Given the description of an element on the screen output the (x, y) to click on. 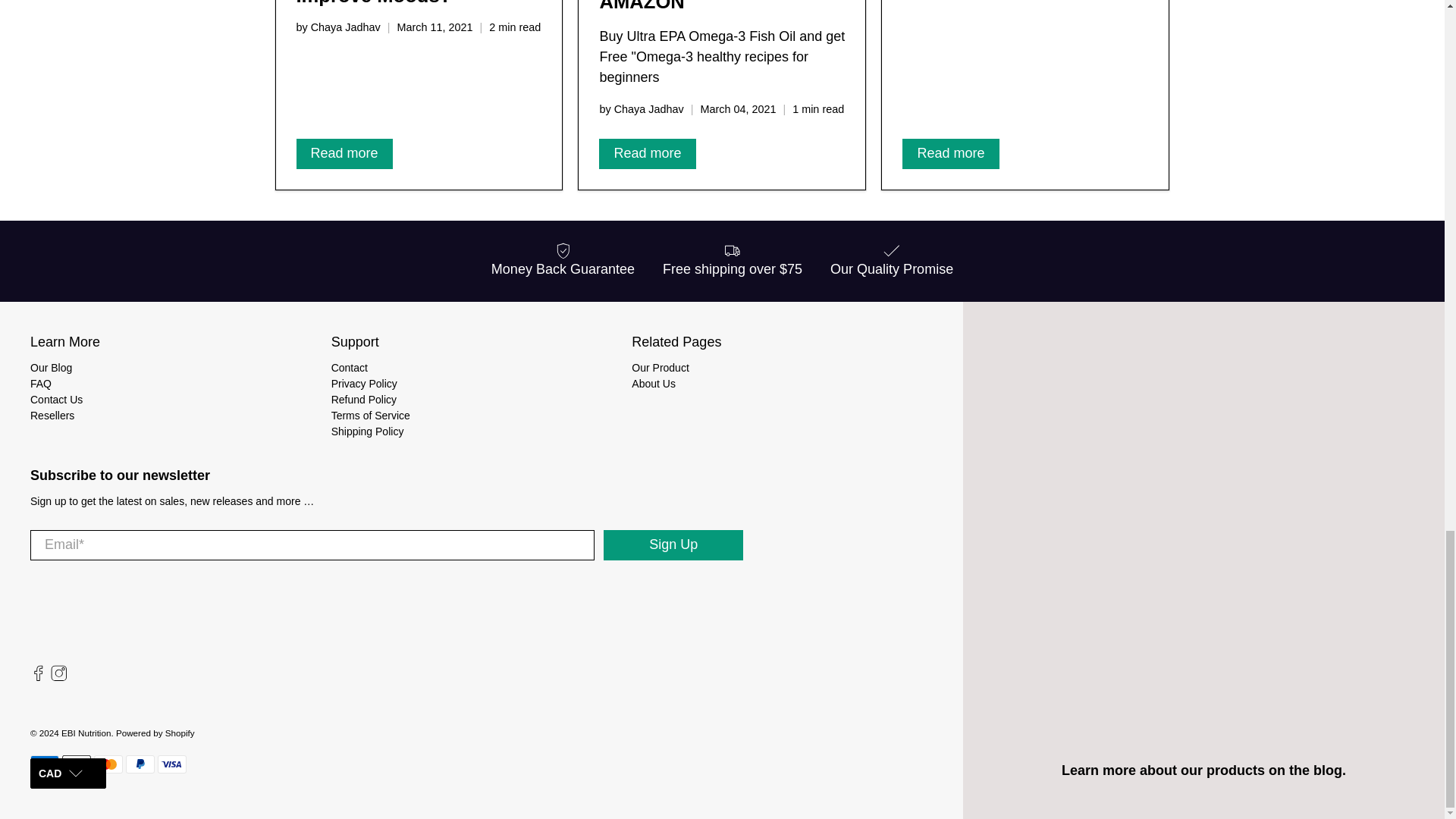
GRAB YOUR COPY ON AMAZON (705, 6)
Mastercard (108, 764)
Visa (171, 764)
EBI Nutrition on Facebook (38, 677)
Apple Pay (76, 764)
American Express (44, 764)
How does Omega 3 Reduce Stress and Improve Moods? (384, 2)
GRAB YOUR COPY ON AMAZON (705, 6)
by Chaya Jadhav (337, 27)
by Chaya Jadhav (640, 109)
How does Omega 3 Reduce Stress and Improve Moods? (384, 2)
PayPal (139, 764)
Read more (646, 153)
EBI Nutrition on Instagram (58, 677)
EBI Nutrition (87, 620)
